Given the description of an element on the screen output the (x, y) to click on. 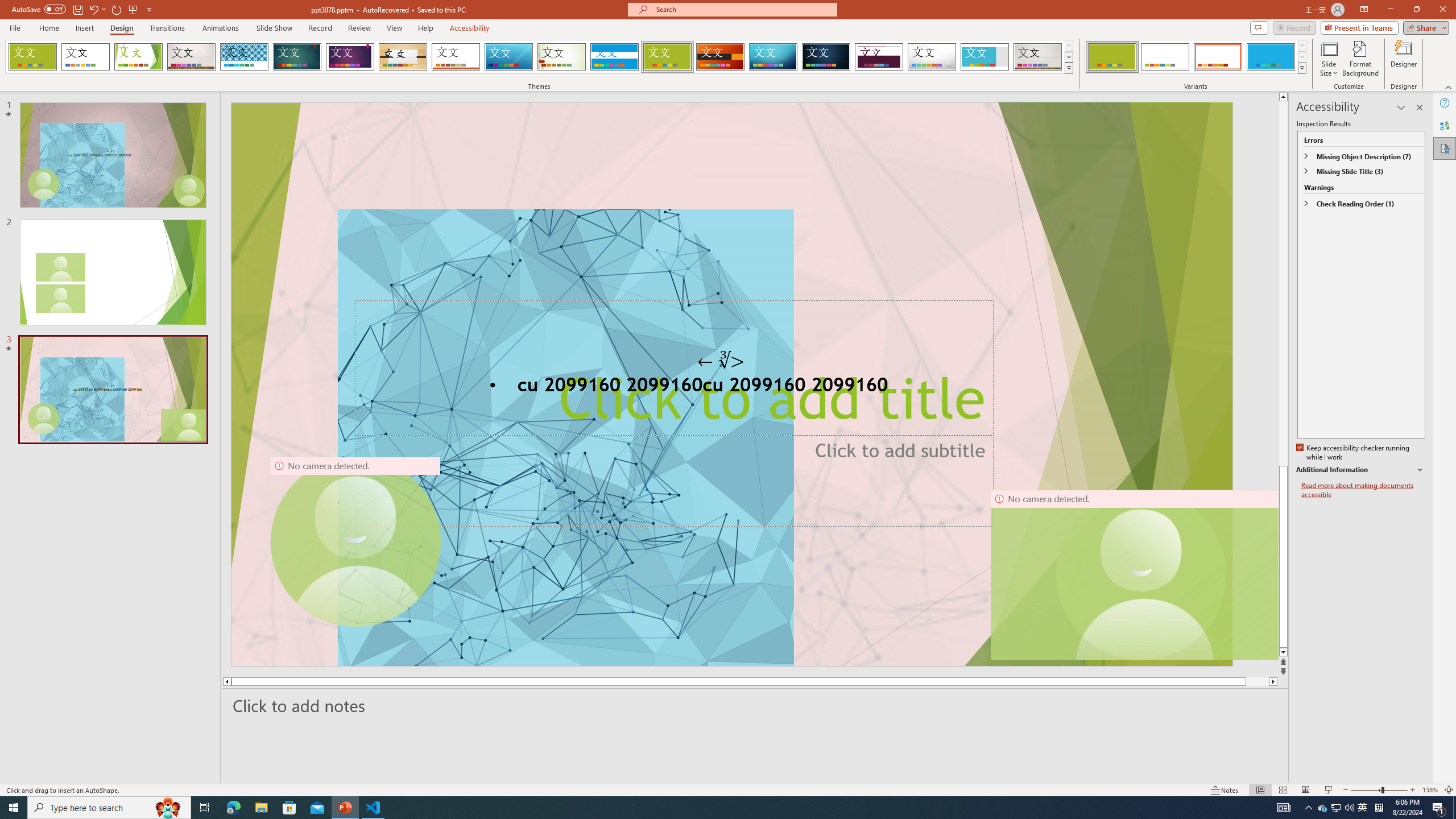
Damask (826, 56)
Organic (403, 56)
